Given the description of an element on the screen output the (x, y) to click on. 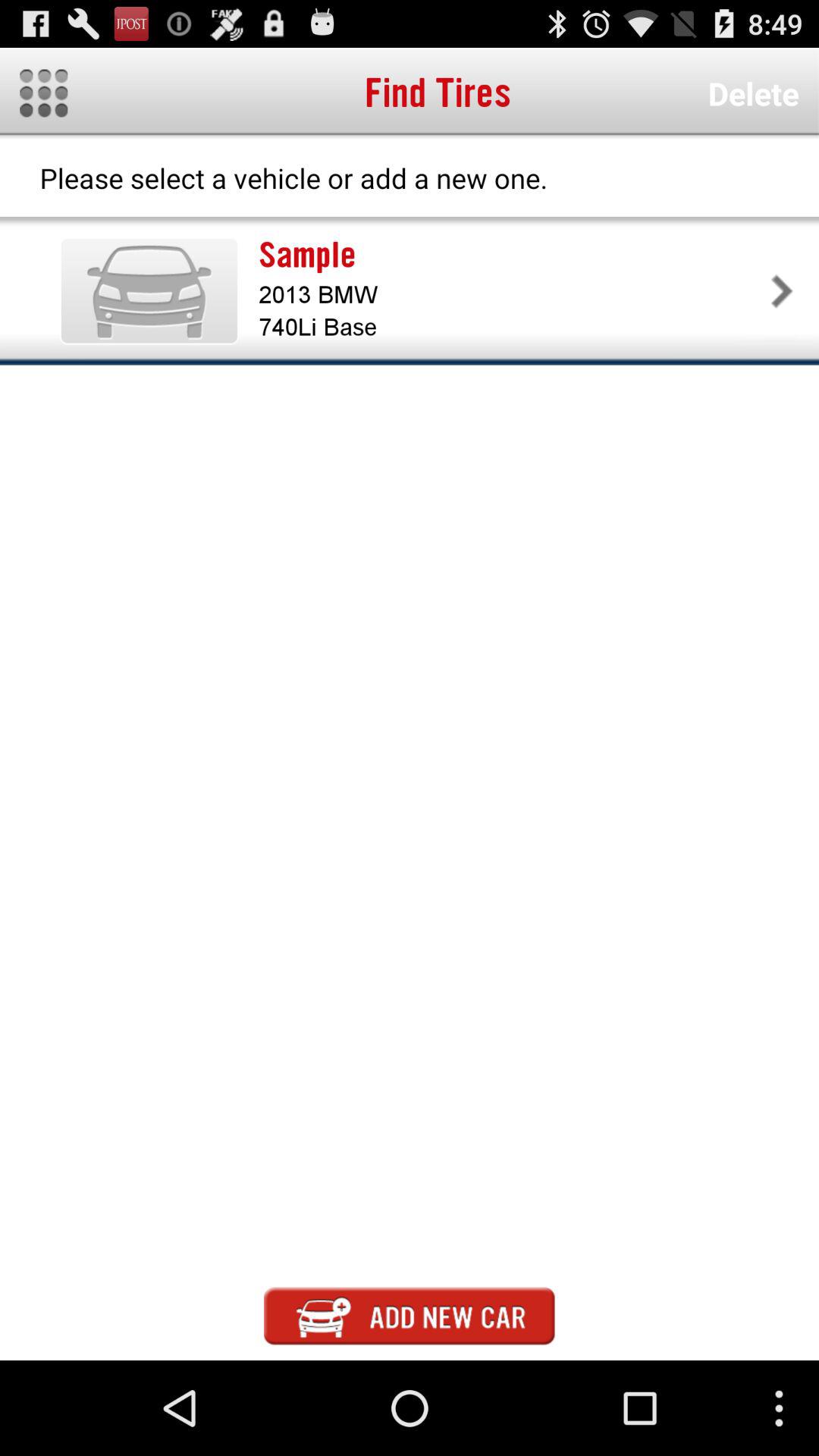
turn on icon above the 2013 bmw app (511, 254)
